Given the description of an element on the screen output the (x, y) to click on. 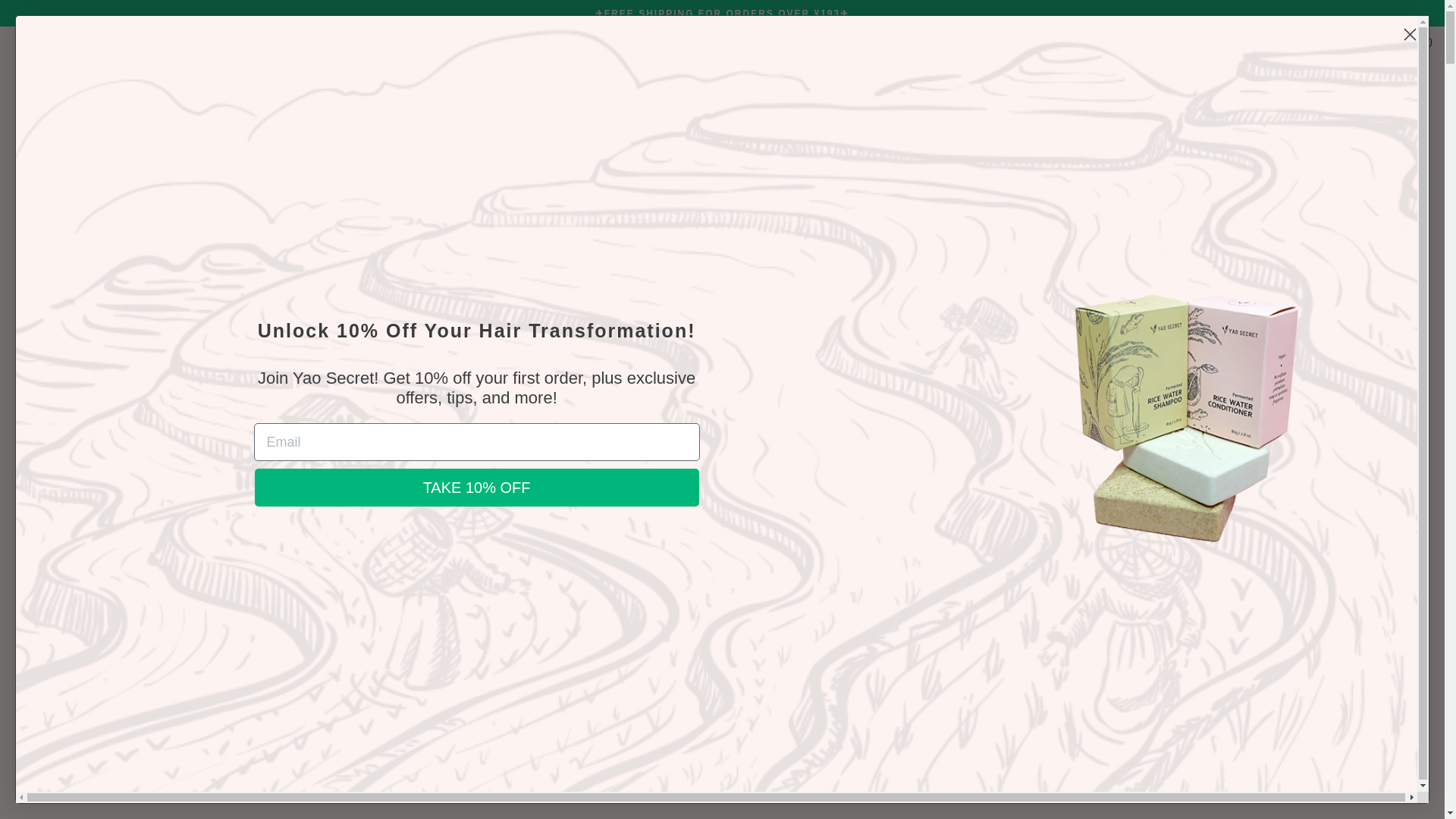
Yao Secret (302, 139)
My Account  (1363, 41)
Yao Secret Blogs (384, 139)
